Given the description of an element on the screen output the (x, y) to click on. 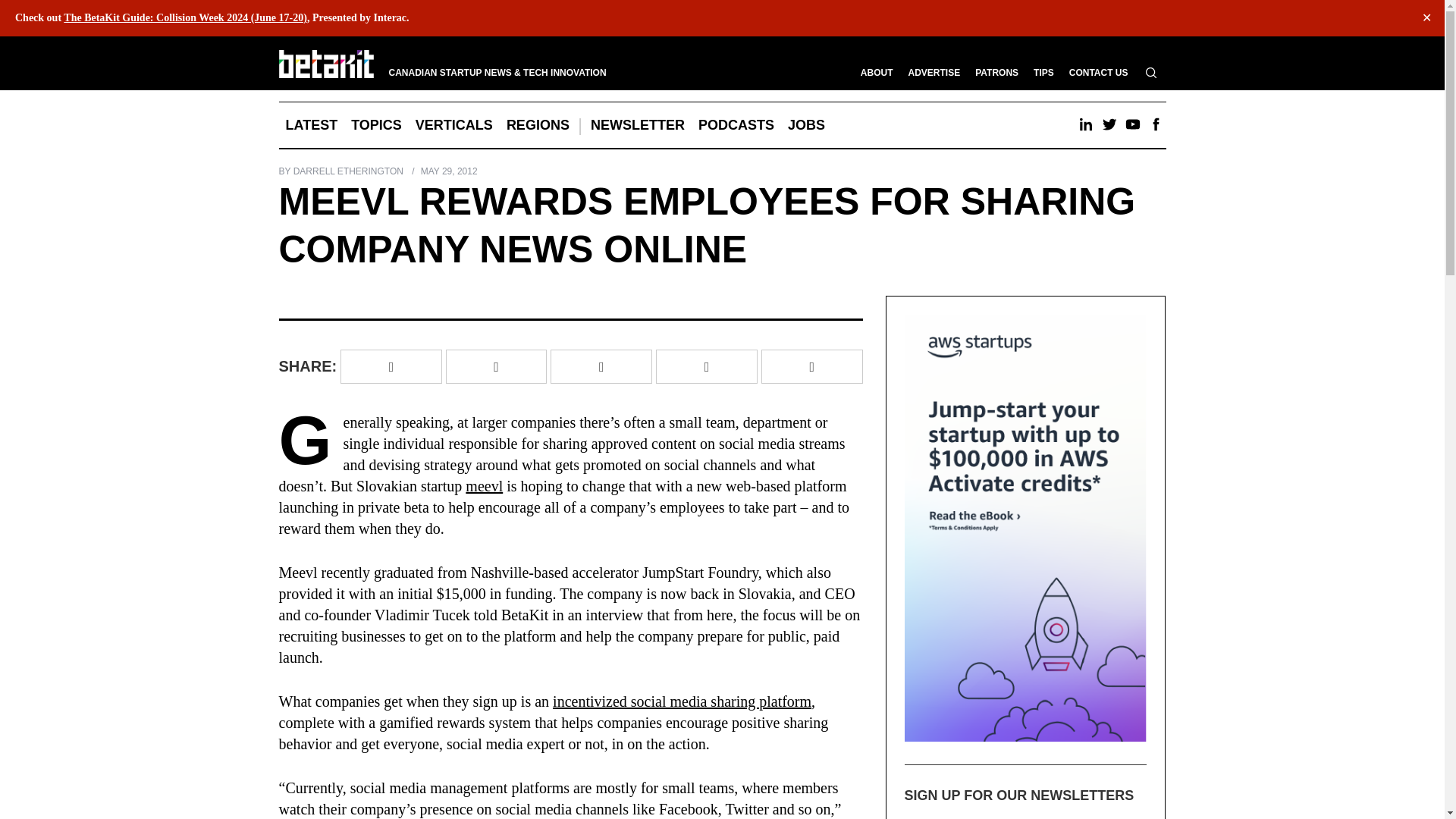
TOPICS (376, 125)
NEWSLETTER (637, 125)
PATRONS (997, 72)
ADVERTISE (933, 72)
PODCASTS (735, 125)
JOBS (805, 125)
VERTICALS (454, 125)
REGIONS (537, 125)
TIPS (1043, 72)
Posts by Darrell Etherington (348, 171)
